Given the description of an element on the screen output the (x, y) to click on. 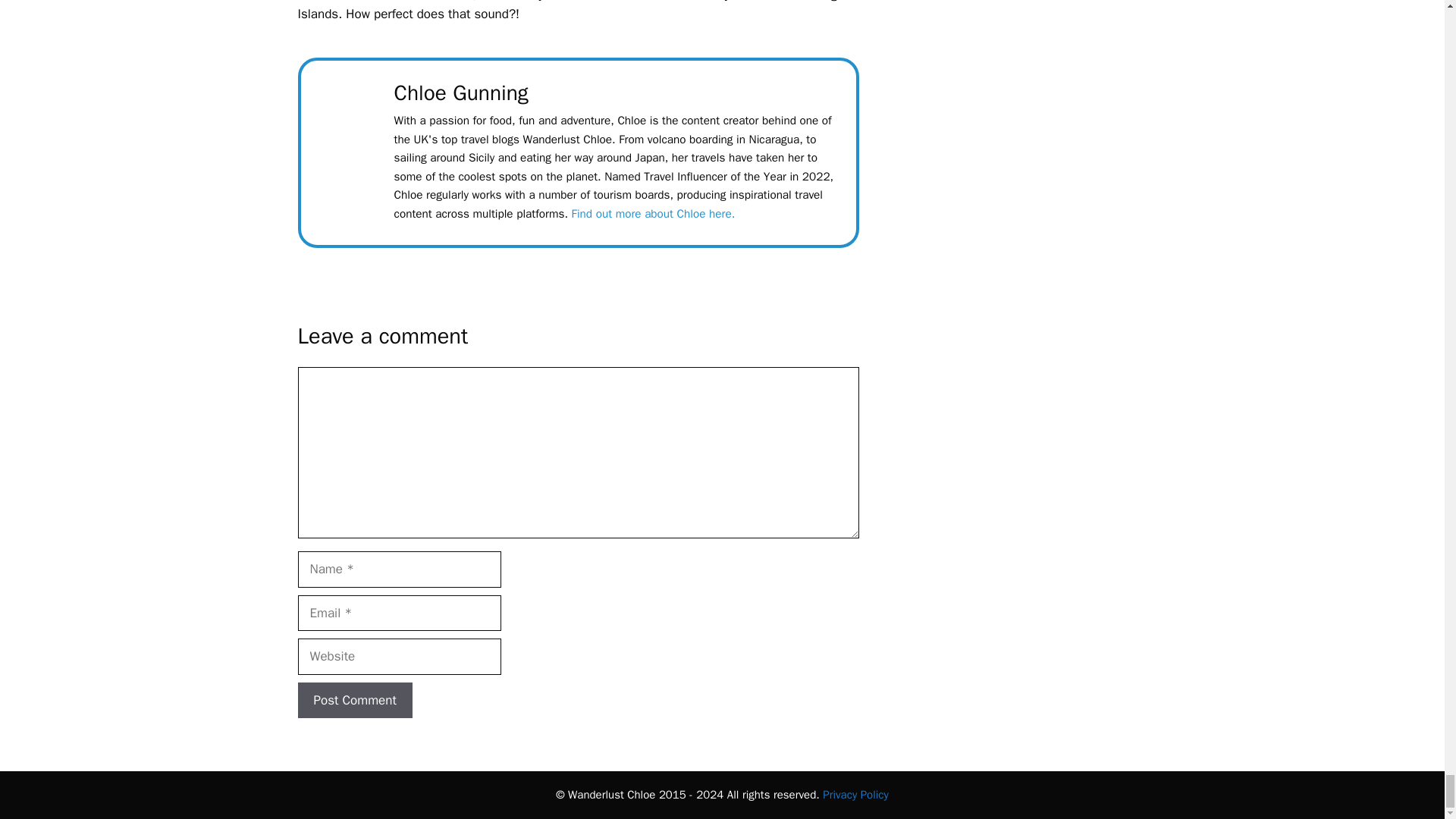
Post Comment (354, 700)
